Given the description of an element on the screen output the (x, y) to click on. 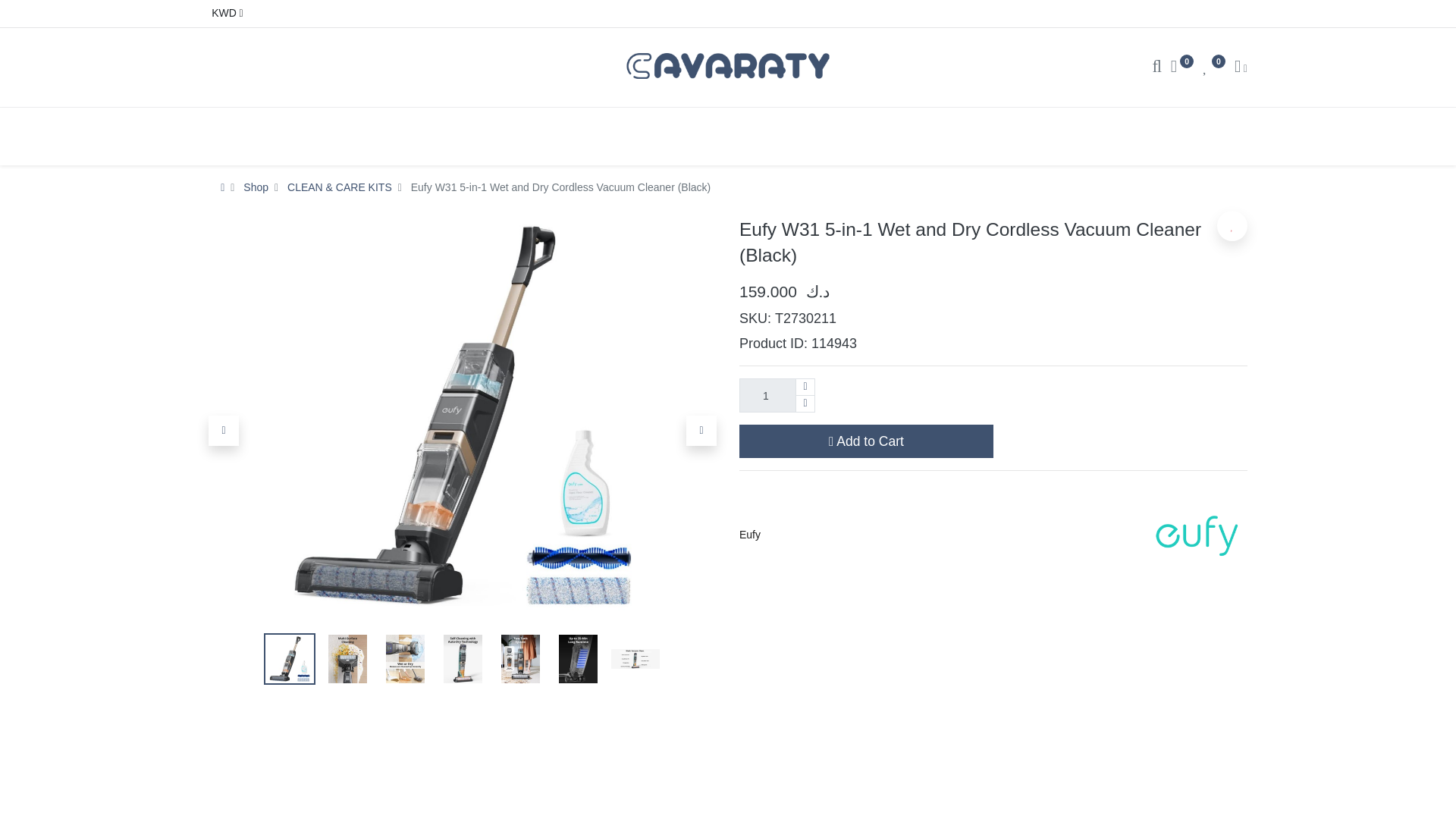
CAVARATY (727, 64)
0 (1213, 68)
1 (777, 395)
0 (1181, 68)
KWD (225, 13)
